Given the description of an element on the screen output the (x, y) to click on. 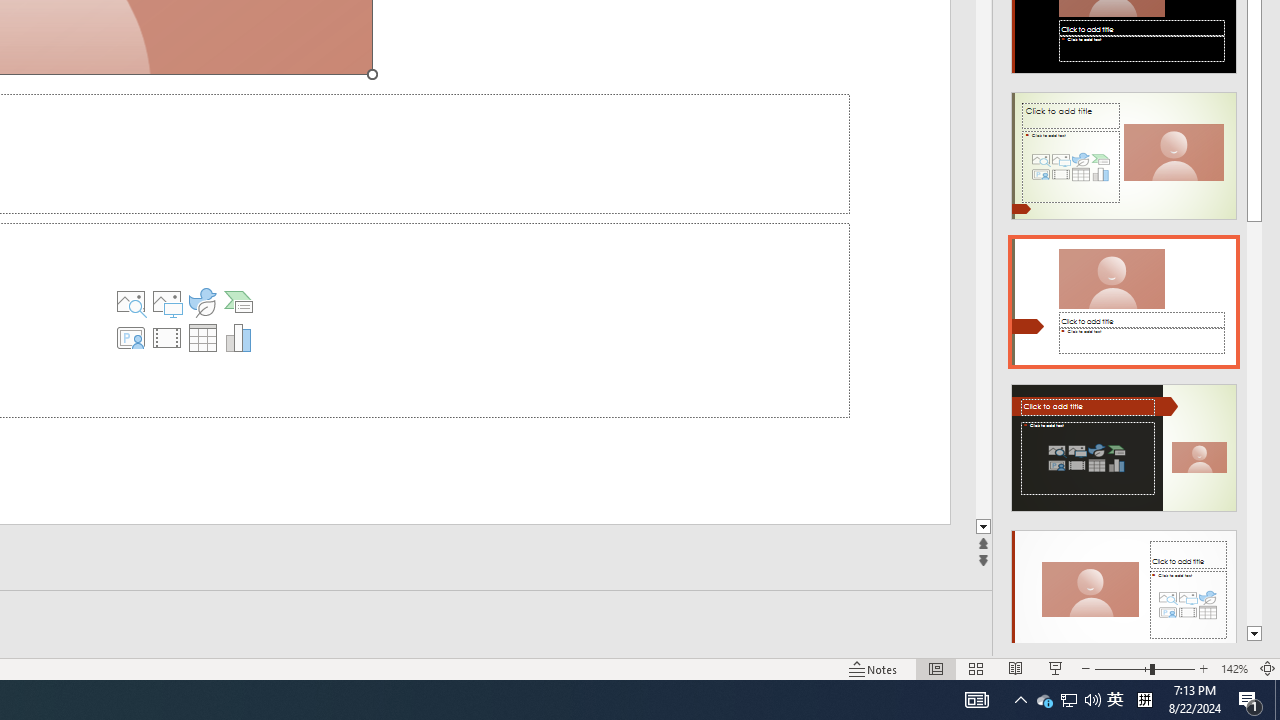
Insert a SmartArt Graphic (238, 301)
